Given the description of an element on the screen output the (x, y) to click on. 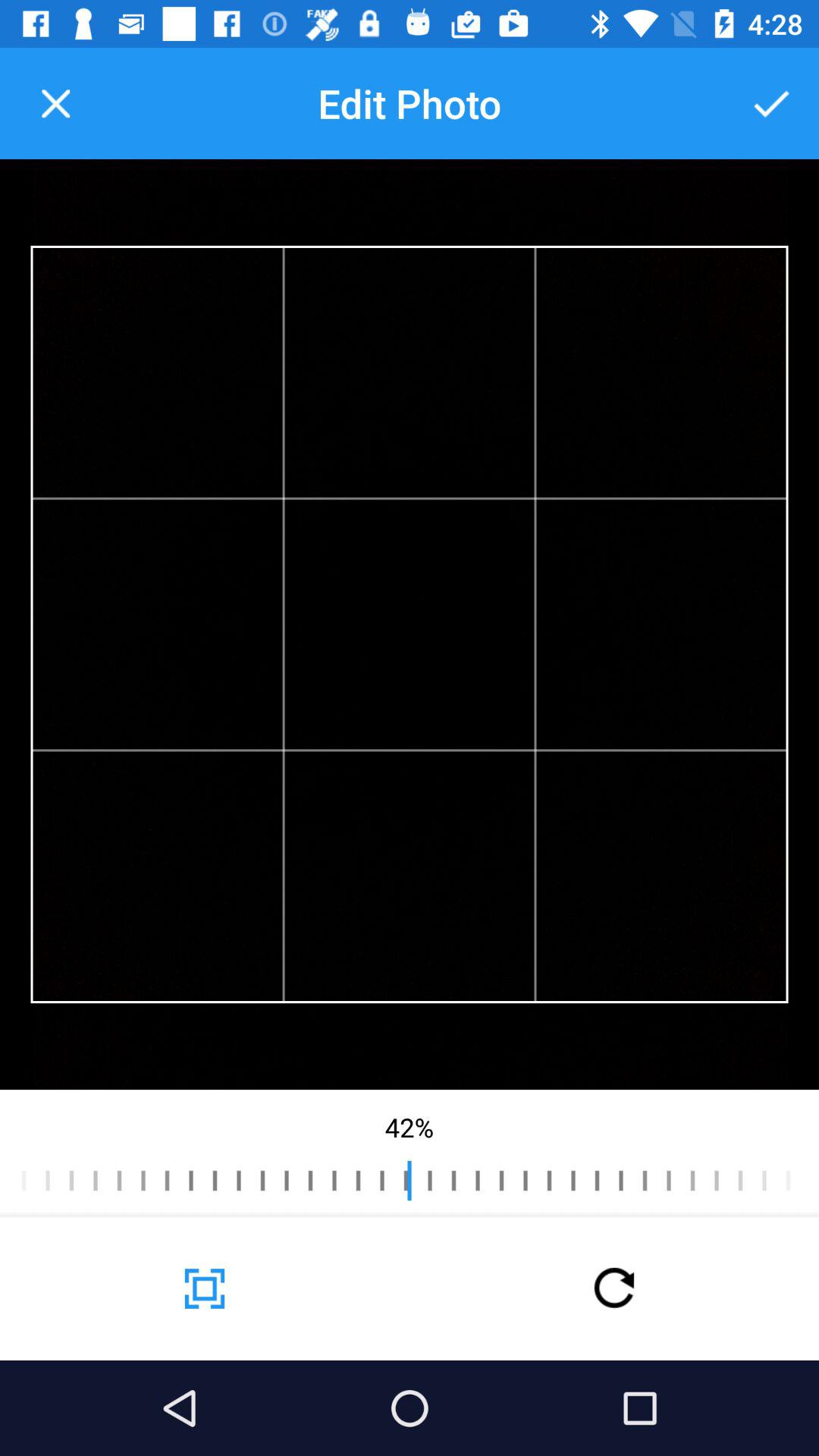
turn off item next to edit photo (55, 103)
